Given the description of an element on the screen output the (x, y) to click on. 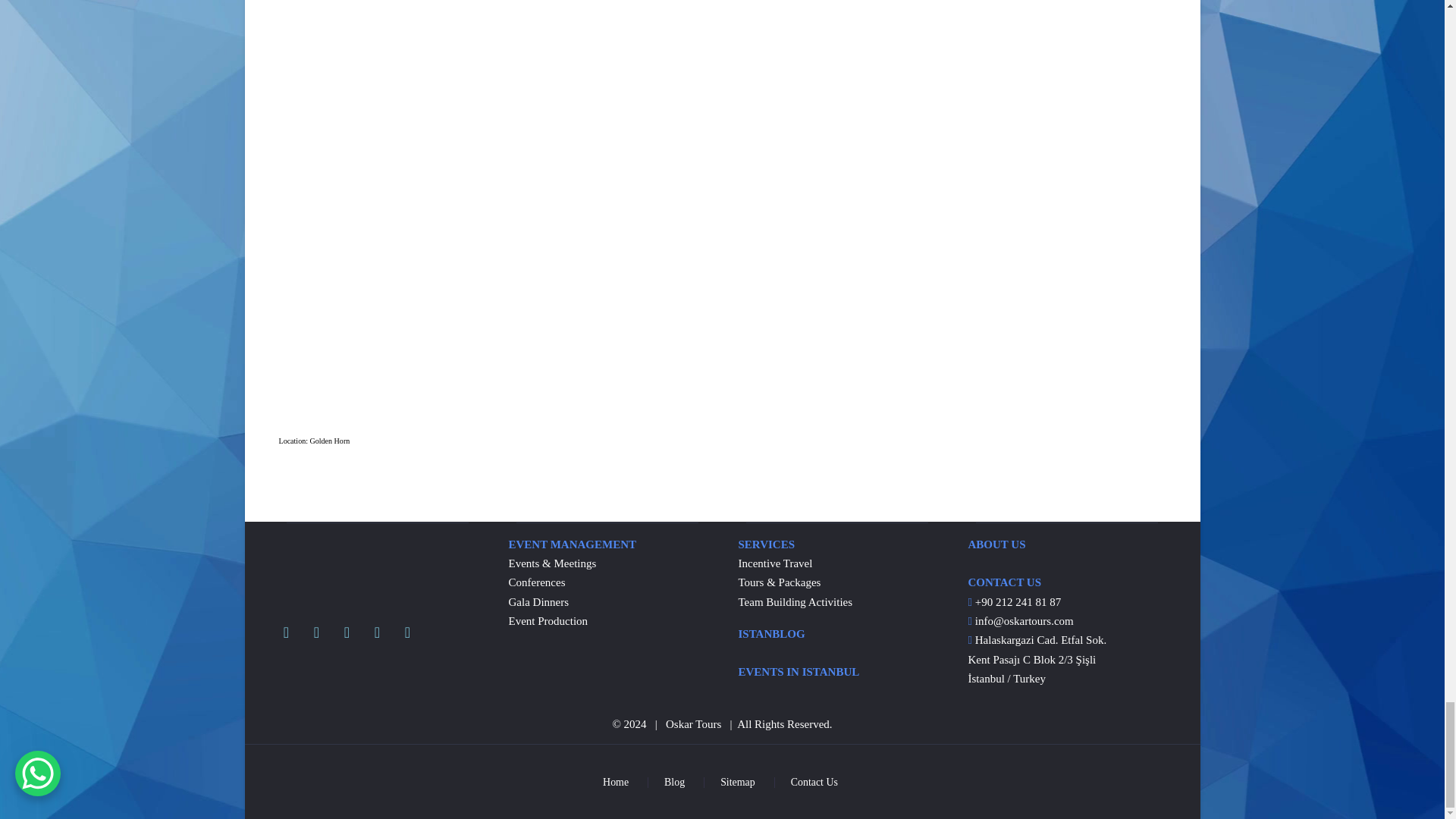
OskarTours logo 1 (344, 564)
